Given the description of an element on the screen output the (x, y) to click on. 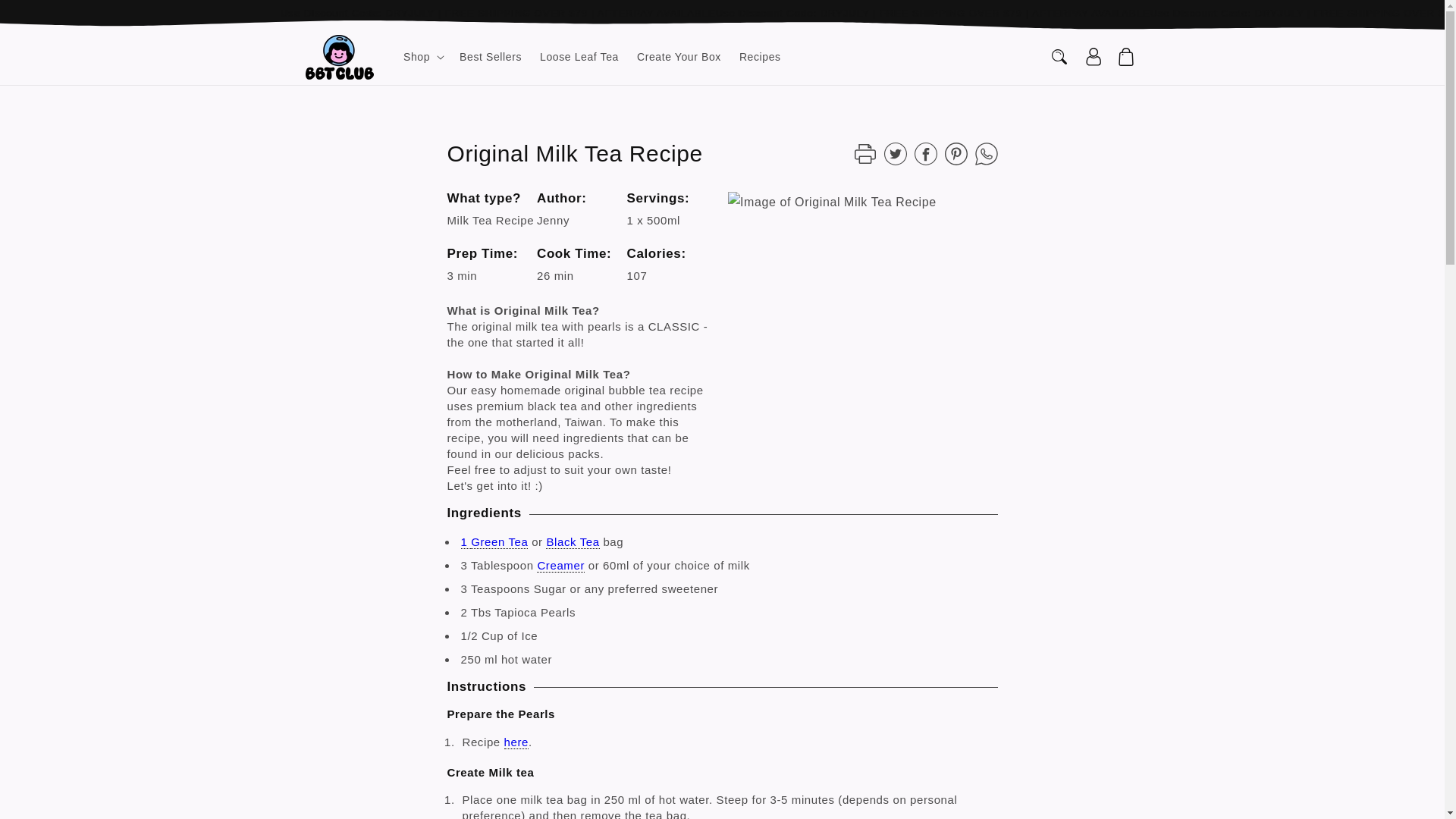
Skip to content (45, 17)
